Given the description of an element on the screen output the (x, y) to click on. 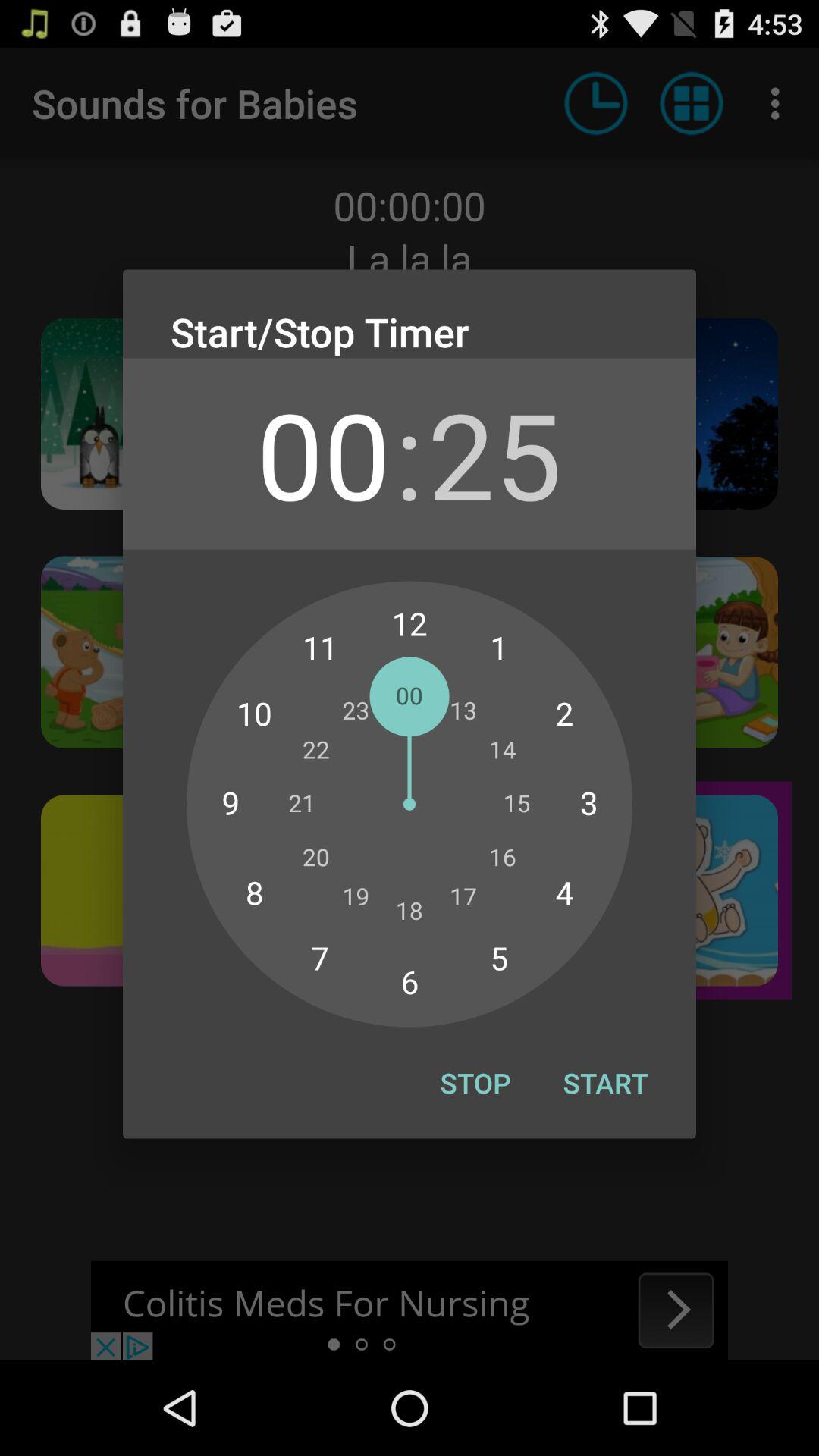
choose the icon below the start/stop timer icon (494, 453)
